Given the description of an element on the screen output the (x, y) to click on. 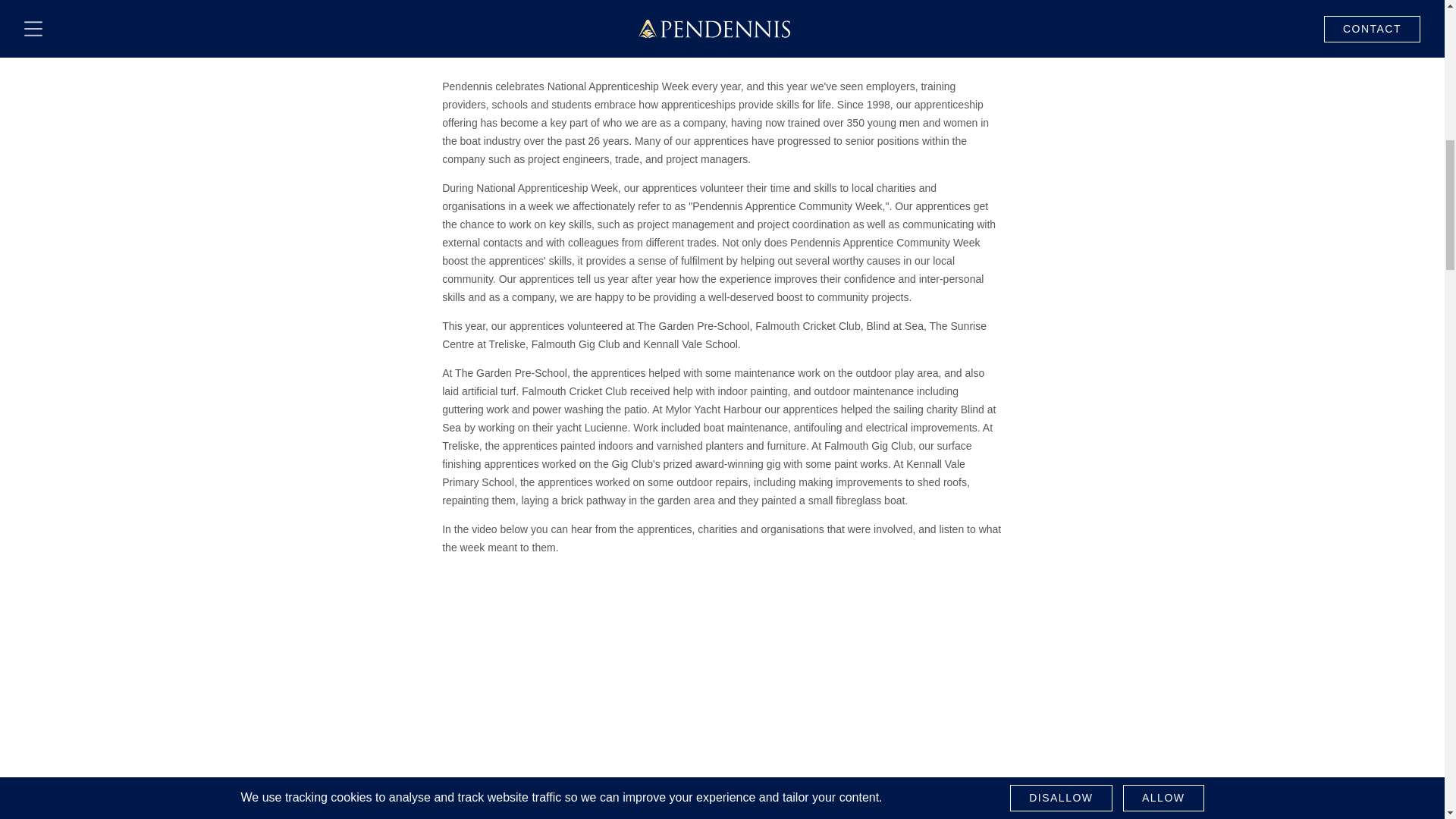
Pendennis Apprentice Community Week 2024 (721, 725)
